Given the description of an element on the screen output the (x, y) to click on. 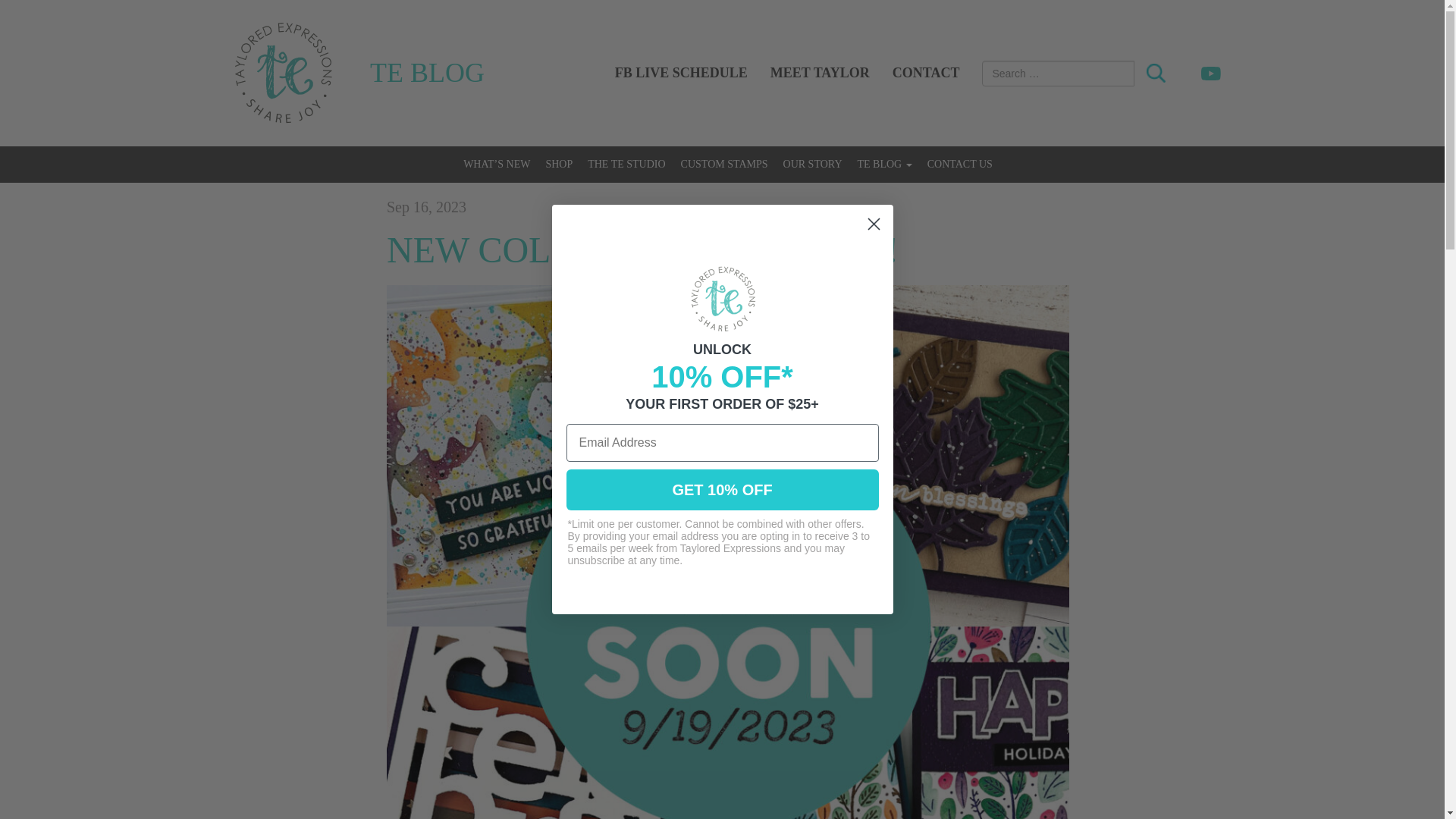
Search for: (1057, 73)
TE BLOG (426, 73)
TE BLOG (883, 164)
SHOP (558, 164)
What's New (496, 164)
Contact Us (960, 164)
FB LIVE SCHEDULE (681, 72)
Go (1155, 73)
Go (1155, 73)
CONTACT (925, 72)
Our Story (813, 164)
CONTACT US (960, 164)
Custom Stamps (724, 164)
NEW COLORS COMING SOON! (642, 249)
OUR STORY (813, 164)
